Given the description of an element on the screen output the (x, y) to click on. 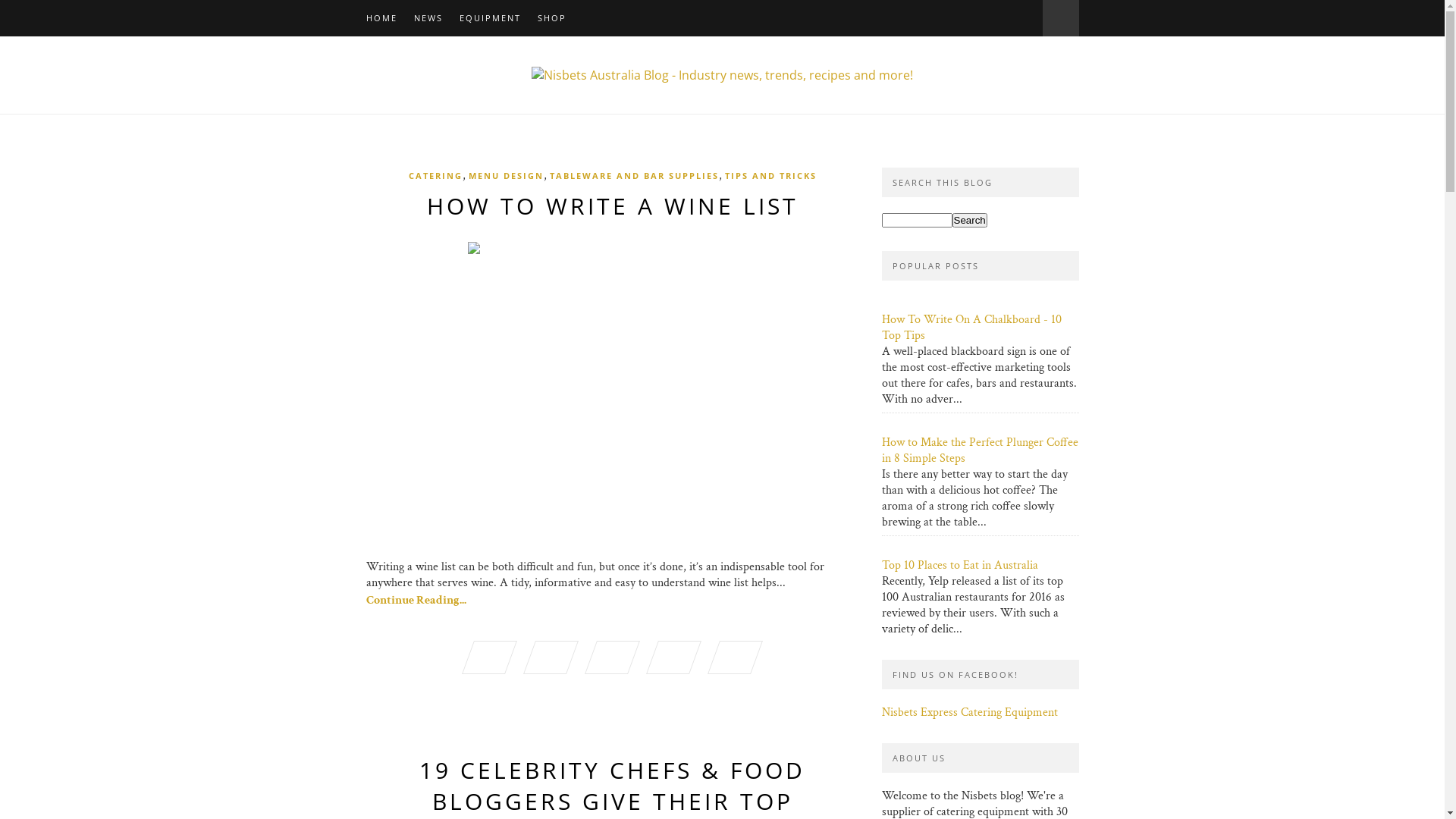
Top 10 Places to Eat in Australia Element type: text (959, 565)
How to Make the Perfect Plunger Coffee in 8 Simple Steps Element type: text (979, 450)
NEWS Element type: text (428, 18)
TIPS AND TRICKS Element type: text (770, 175)
TABLEWARE AND BAR SUPPLIES Element type: text (633, 175)
search Element type: hover (969, 220)
EQUIPMENT Element type: text (489, 18)
CATERING Element type: text (434, 175)
MENU DESIGN Element type: text (505, 175)
Continue Reading... Element type: text (415, 600)
How To Write On A Chalkboard - 10 Top Tips Element type: text (970, 327)
SHOP Element type: text (550, 18)
Nisbets Express Catering Equipment Element type: text (969, 712)
HOME Element type: text (380, 18)
search Element type: hover (916, 220)
Search Element type: text (969, 220)
HOW TO WRITE A WINE LIST Element type: text (611, 205)
